Given the description of an element on the screen output the (x, y) to click on. 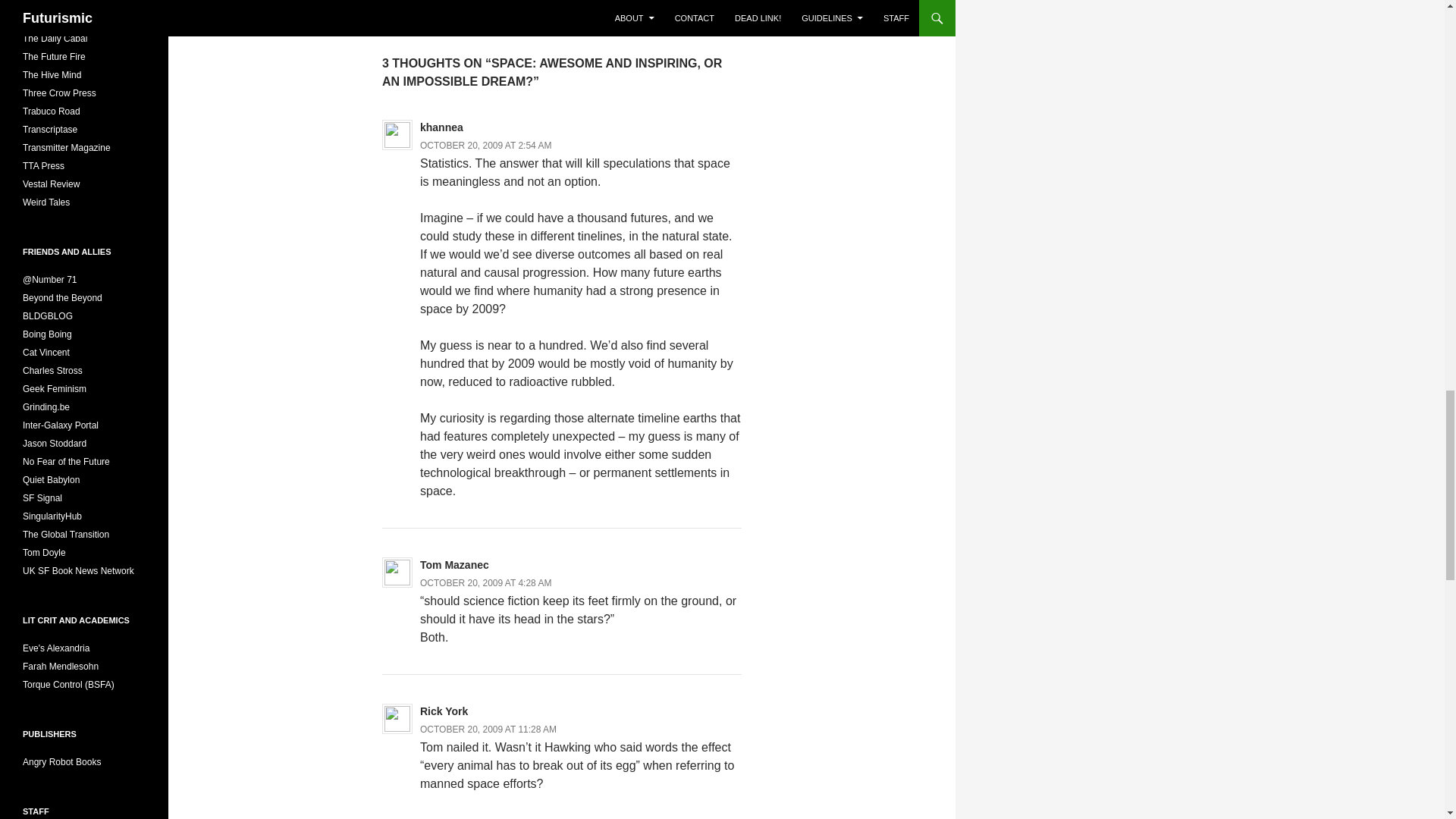
OCTOBER 20, 2009 AT 11:28 AM (488, 728)
OCTOBER 20, 2009 AT 2:54 AM (485, 145)
OCTOBER 20, 2009 AT 4:28 AM (485, 583)
Tom Mazanec (454, 564)
